Given the description of an element on the screen output the (x, y) to click on. 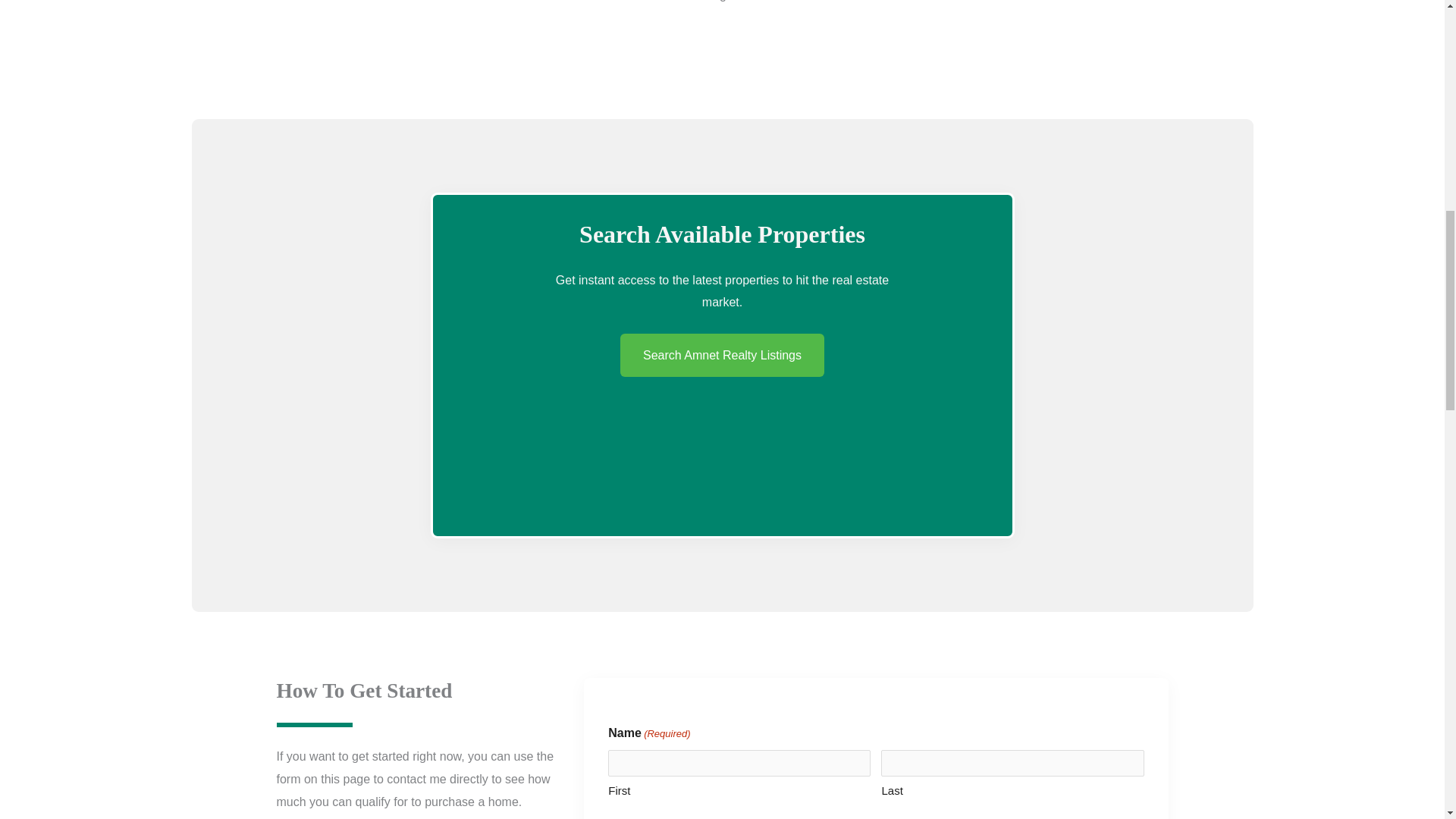
Search Amnet Realty Listings (722, 355)
